Given the description of an element on the screen output the (x, y) to click on. 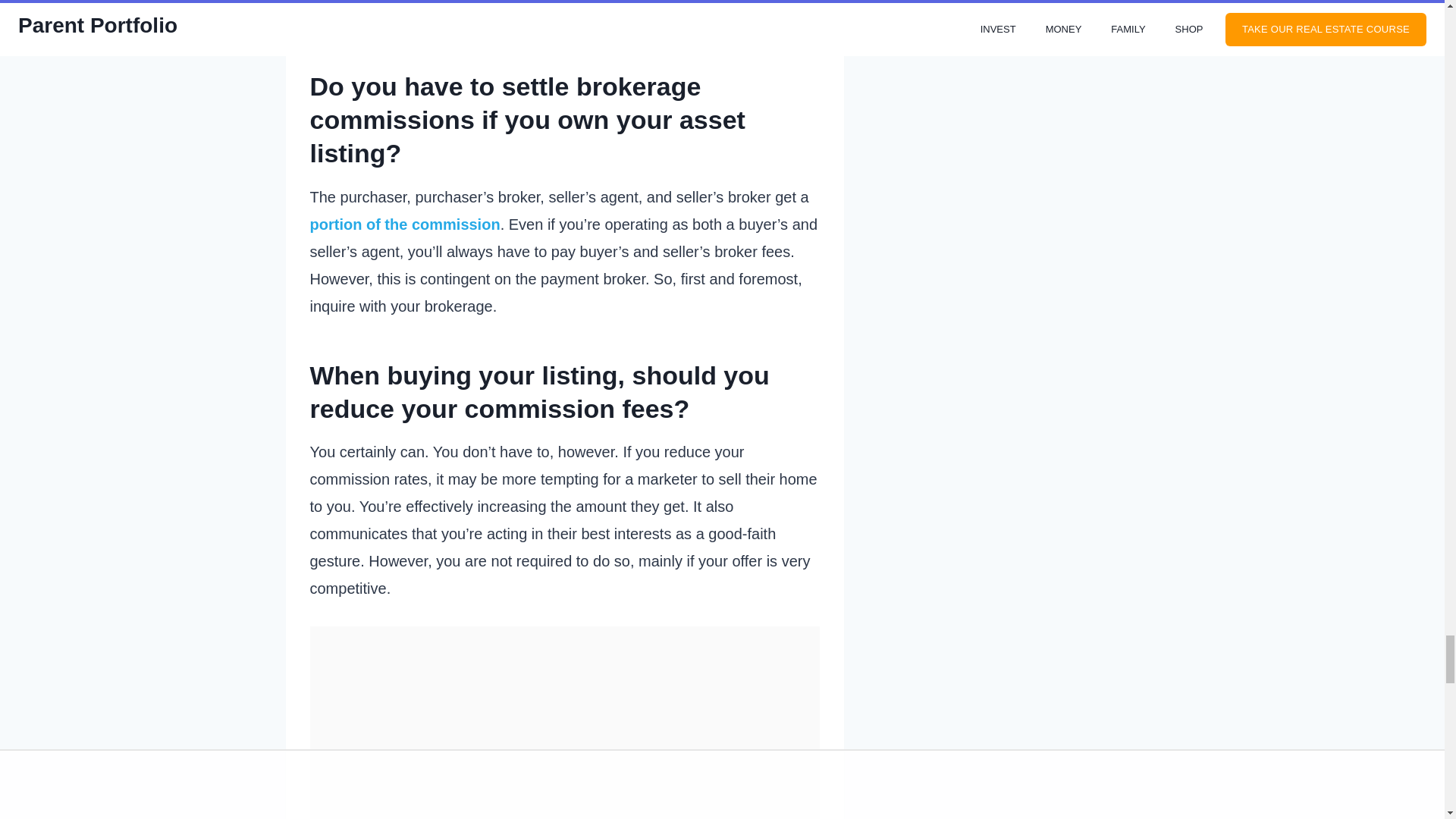
portion of the commission (403, 224)
